Given the description of an element on the screen output the (x, y) to click on. 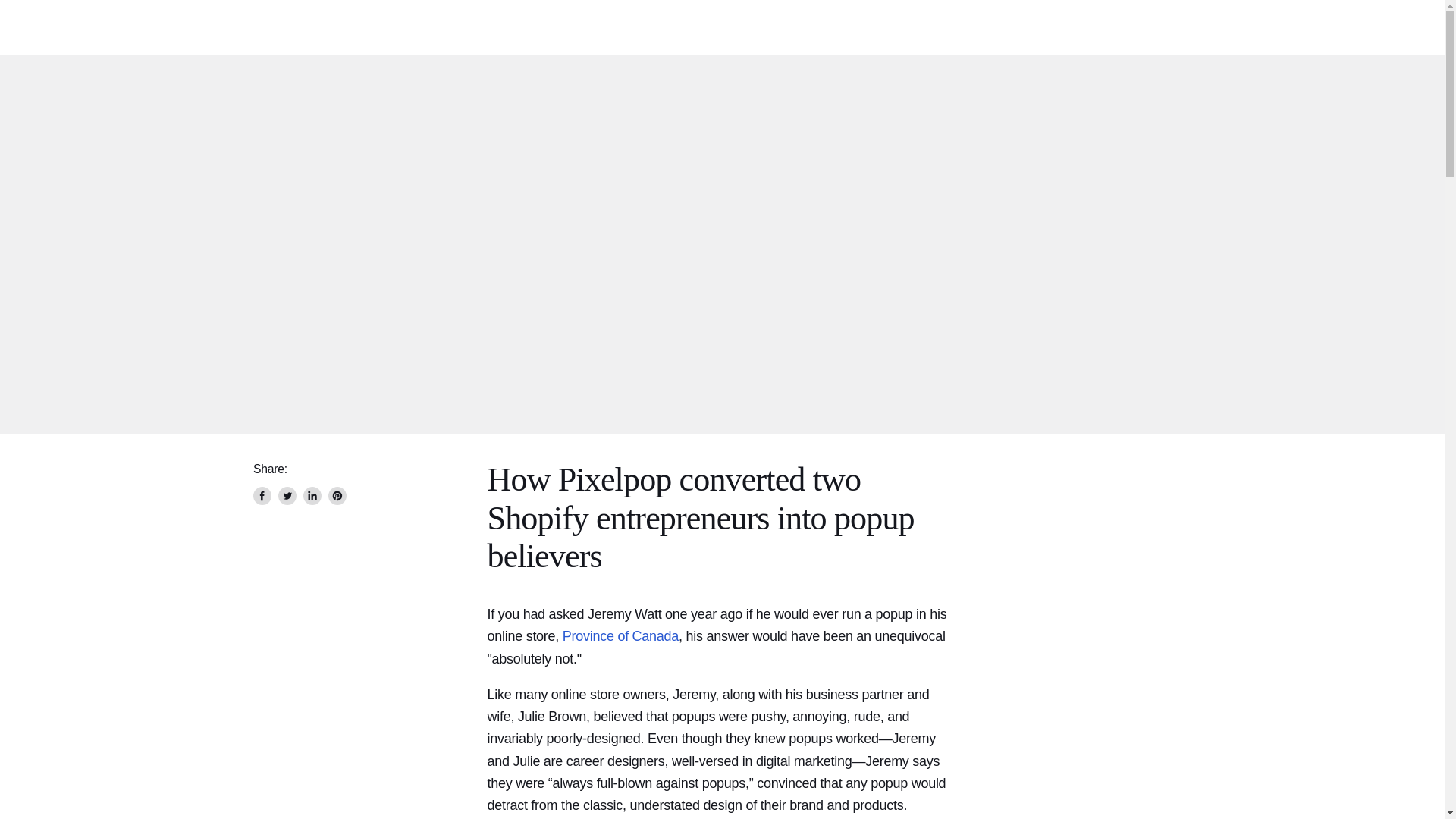
Province of Canada (618, 635)
Share on Facebook (261, 495)
Share on LinkedIn (311, 495)
Pin on Pinterest (337, 495)
Tweet on Twitter (287, 495)
